Given the description of an element on the screen output the (x, y) to click on. 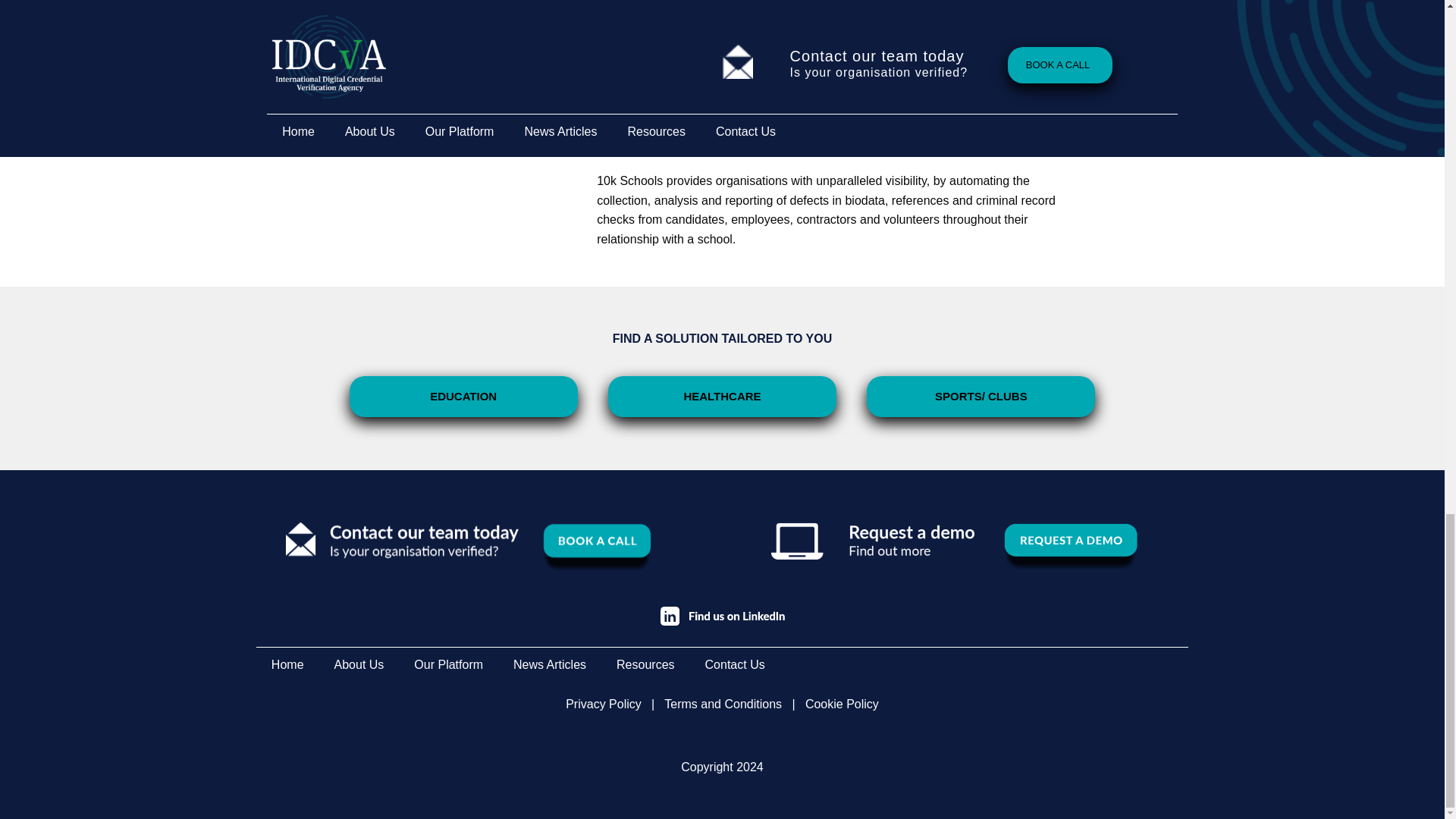
EDUCATION (462, 395)
About Us (358, 664)
News Articles (549, 664)
Home (287, 664)
Contact Us (735, 664)
Our Platform (447, 664)
HEALTHCARE (721, 395)
Resources (644, 664)
